Given the description of an element on the screen output the (x, y) to click on. 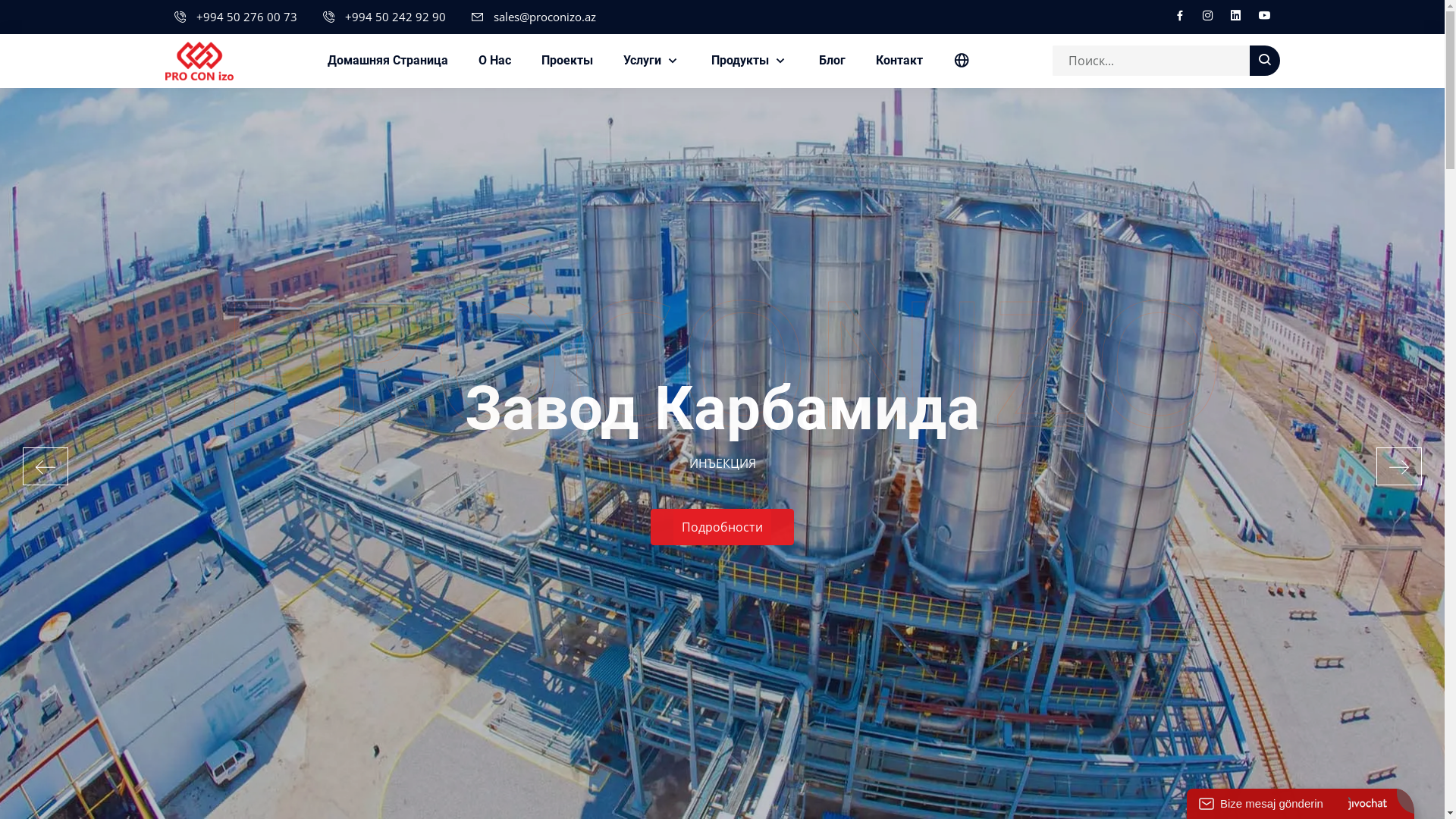
+994 50 276 00 73 Element type: text (245, 16)
+994 50 242 92 90 Element type: text (394, 16)
sales@proconizo.az Element type: text (543, 16)
